Given the description of an element on the screen output the (x, y) to click on. 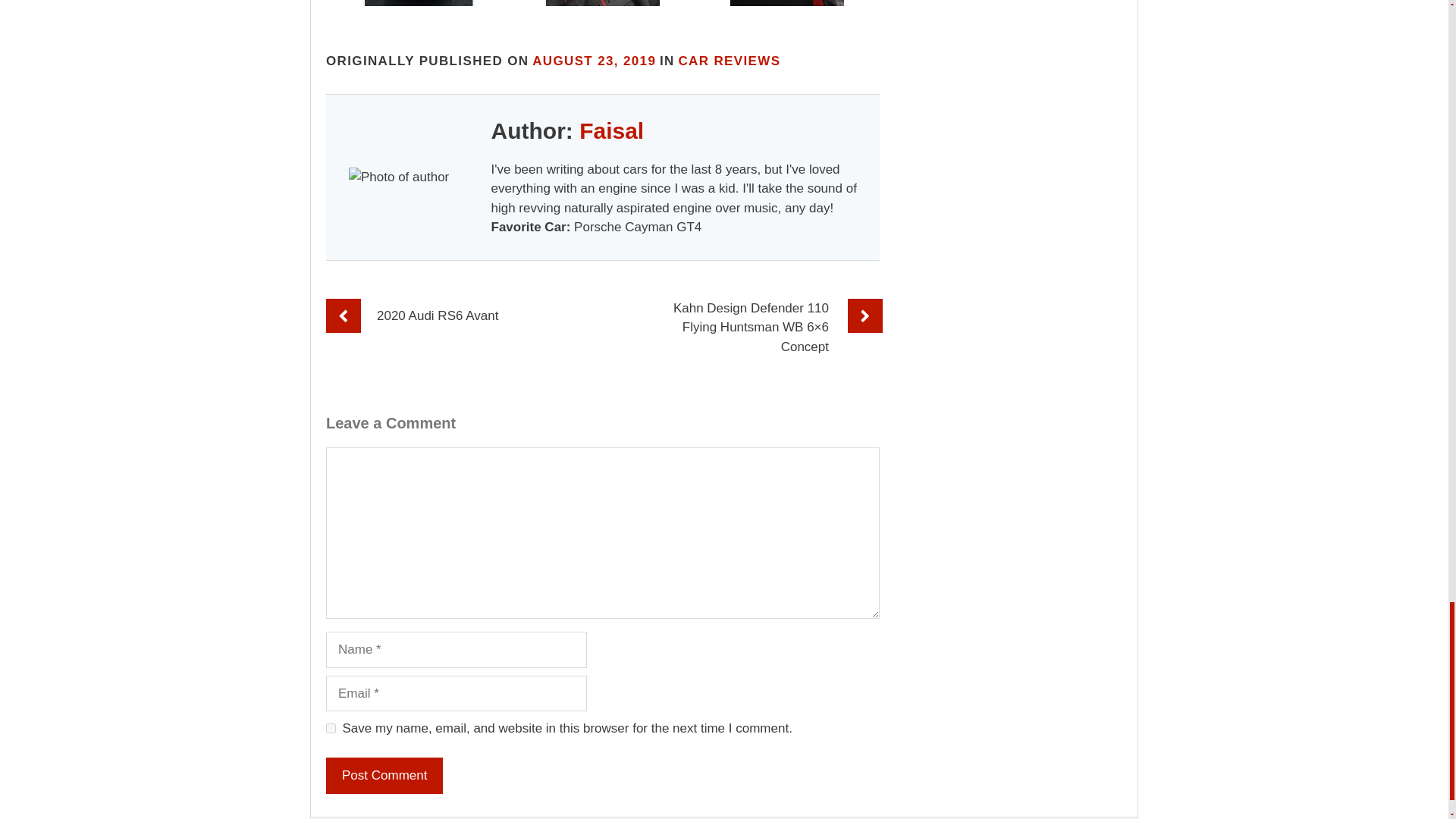
Faisal (611, 130)
Post Comment (384, 775)
Post Comment (384, 775)
CAR REVIEWS (729, 60)
2020 Audi RS6 Avant (437, 315)
yes (331, 728)
